Given the description of an element on the screen output the (x, y) to click on. 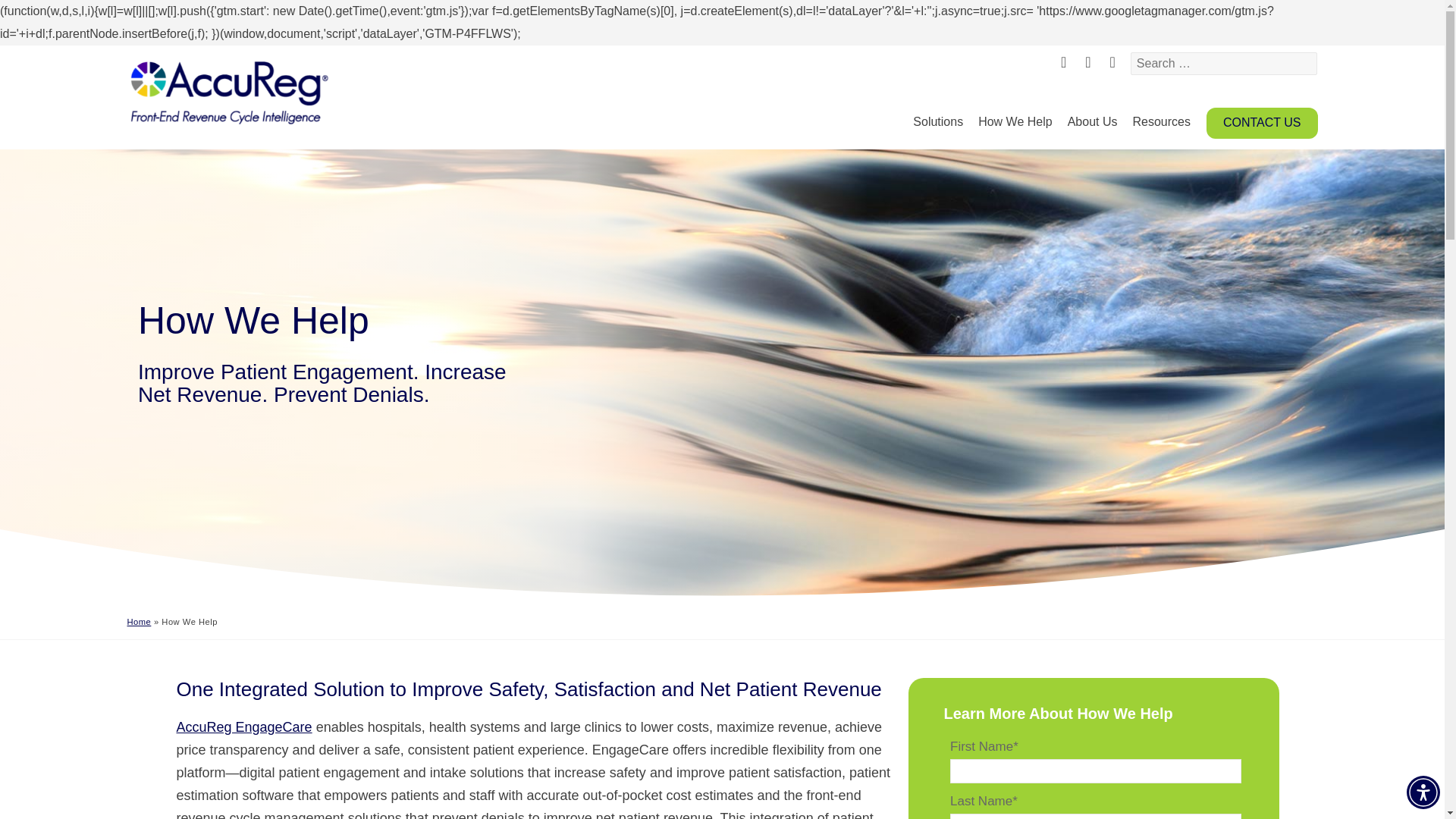
About Us (1092, 122)
How We Help (1015, 122)
Accessibility Menu (722, 116)
Solutions (1422, 792)
